Given the description of an element on the screen output the (x, y) to click on. 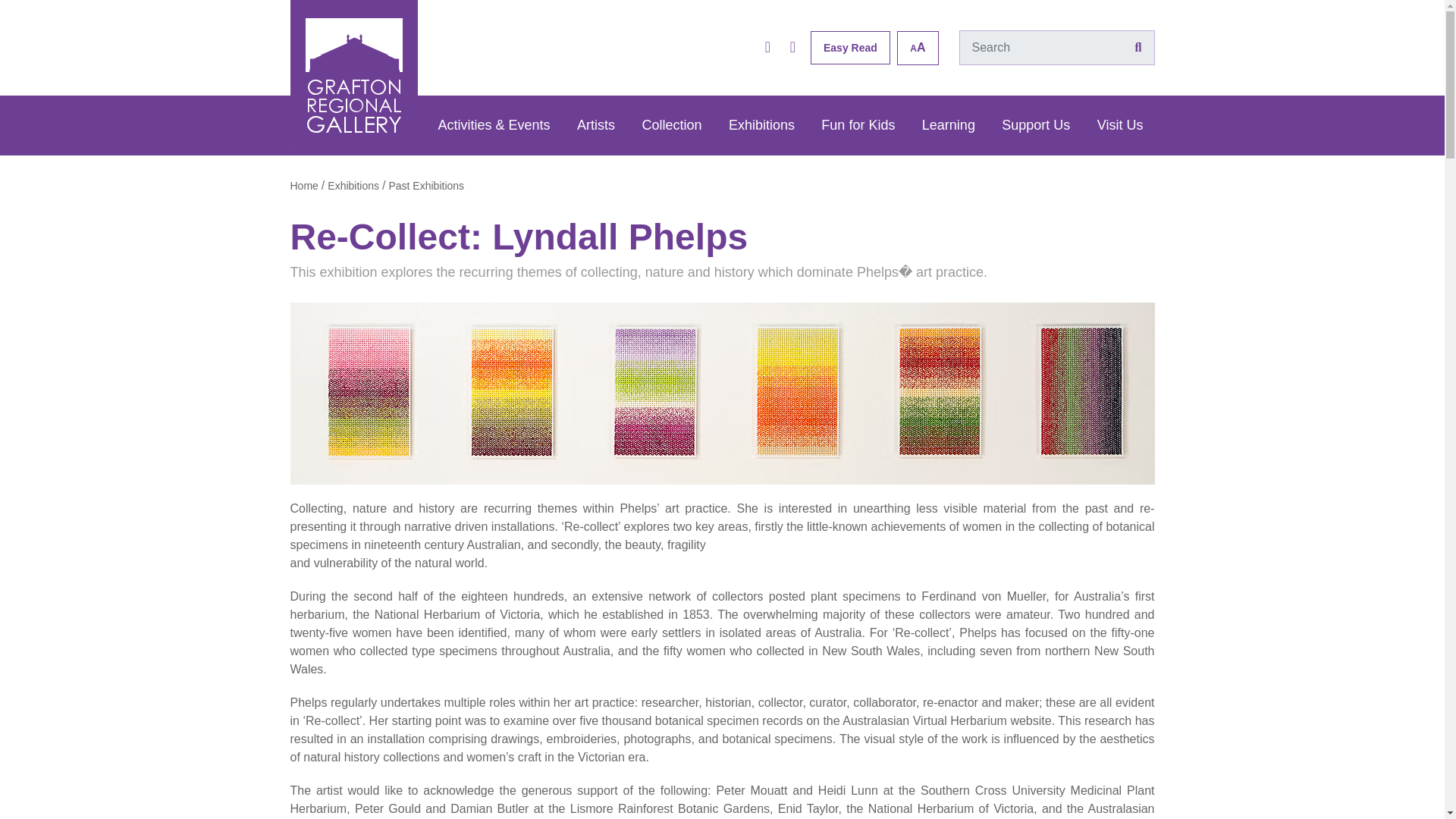
Easy Read (849, 47)
Support Us (1035, 125)
Learning (949, 125)
Past Exhibitions (426, 185)
Fun for Kids (857, 125)
AA (916, 47)
Visit Us (1120, 125)
Exhibitions (761, 125)
Exhibitions (352, 185)
Collection (671, 125)
